Given the description of an element on the screen output the (x, y) to click on. 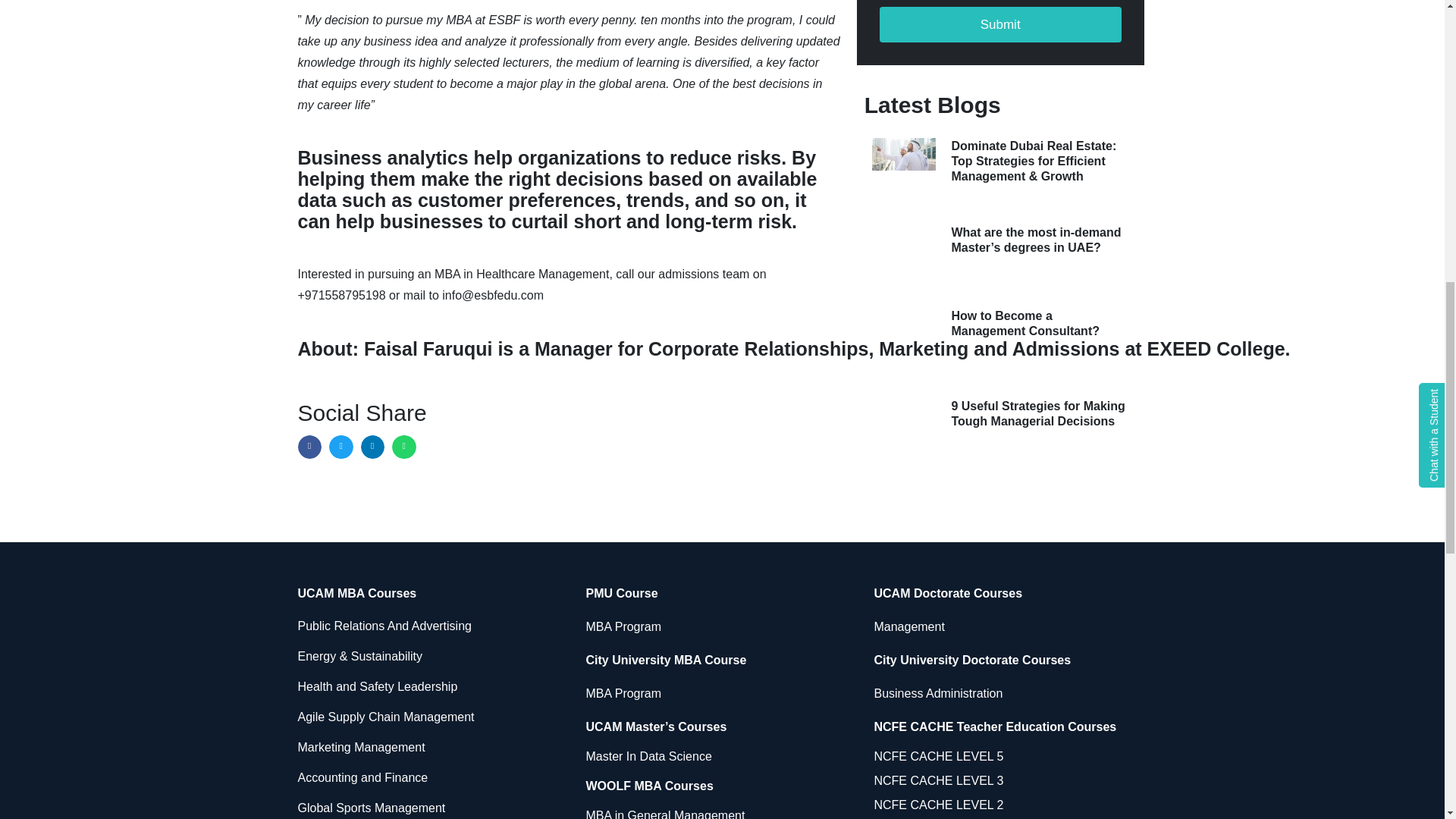
Submit (1000, 24)
